Given the description of an element on the screen output the (x, y) to click on. 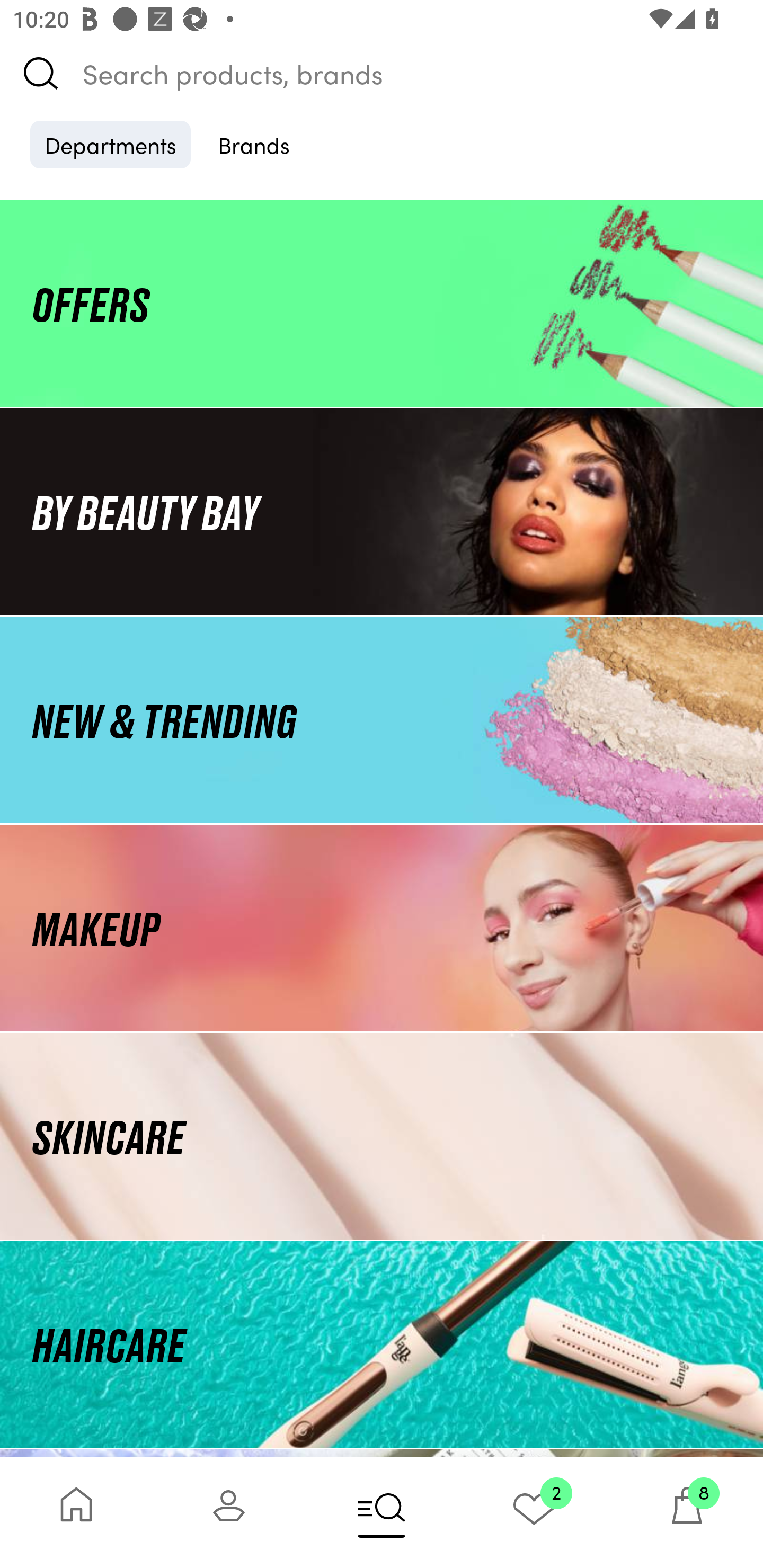
Search products, brands (381, 72)
Departments (110, 143)
Brands (253, 143)
OFFERS (381, 303)
BY BEAUTY BAY (381, 510)
NEW & TRENDING (381, 719)
MAKEUP (381, 927)
SKINCARE (381, 1136)
HAIRCARE (381, 1344)
2 (533, 1512)
8 (686, 1512)
